Given the description of an element on the screen output the (x, y) to click on. 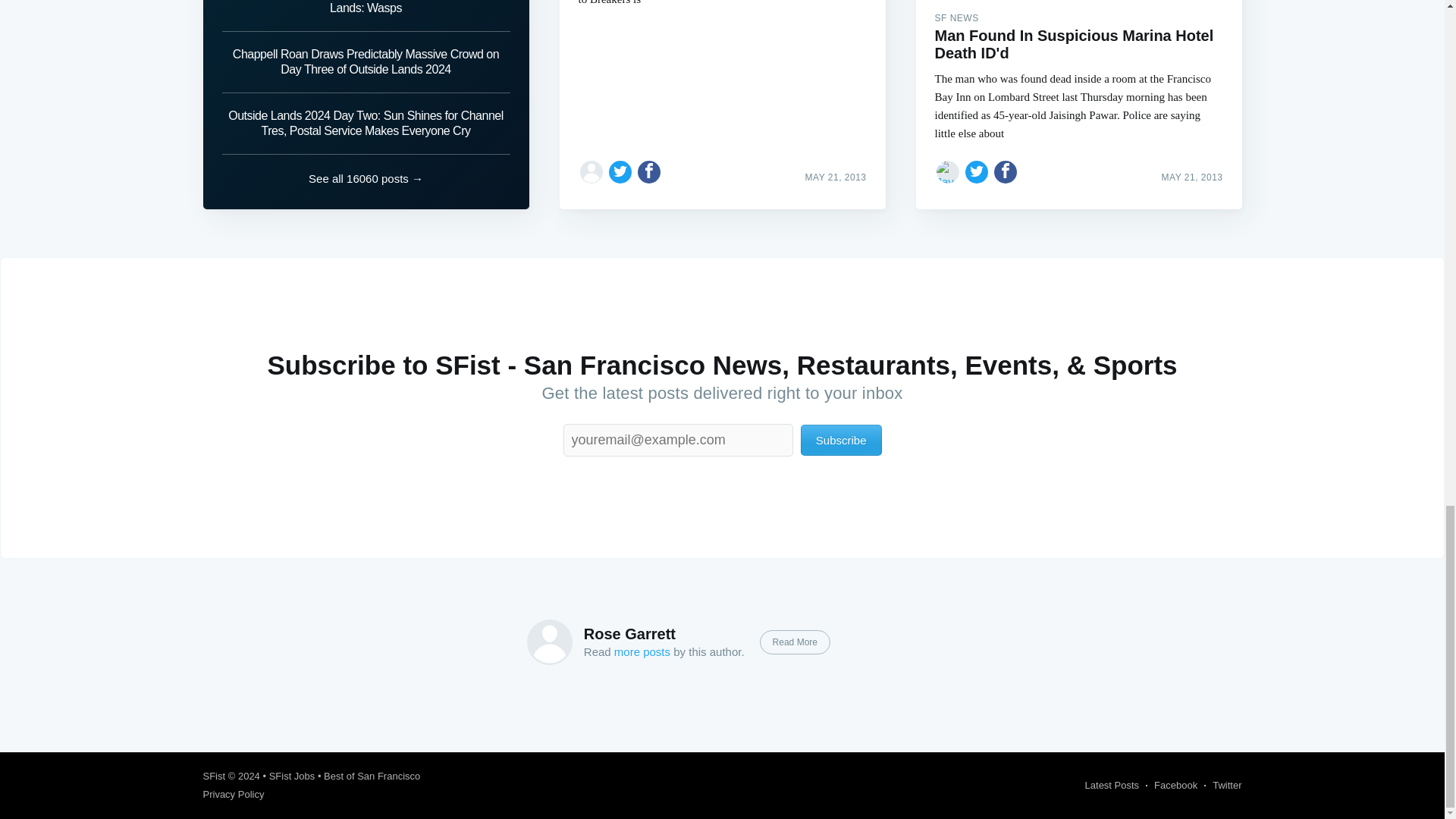
Share on Twitter (620, 171)
Share on Twitter (976, 171)
Share on Facebook (649, 171)
Share on Facebook (1004, 171)
